Given the description of an element on the screen output the (x, y) to click on. 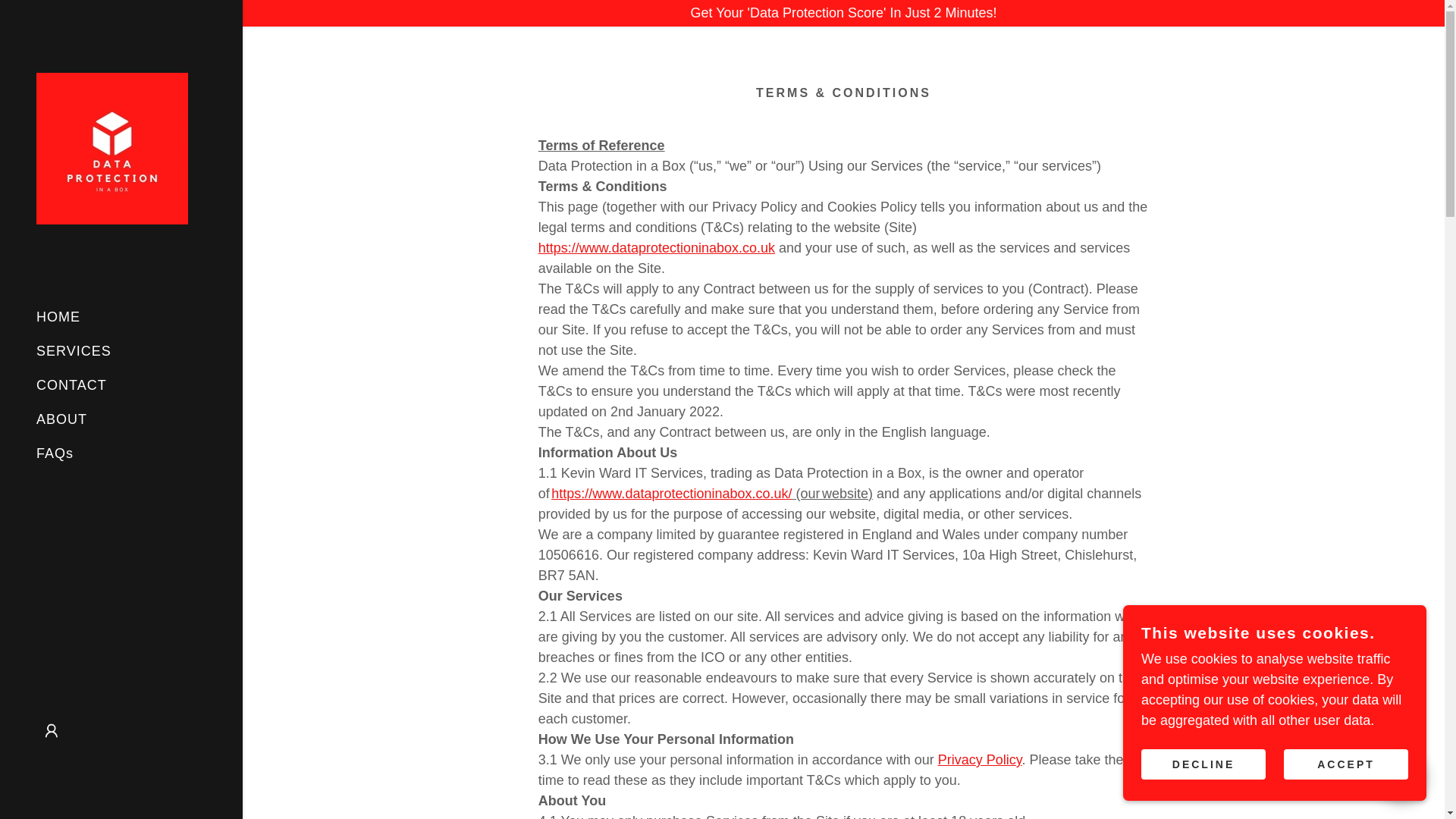
ABOUT (61, 418)
DECLINE (1203, 764)
ACCEPT (1345, 764)
Privacy Policy (979, 759)
SERVICES (74, 350)
CONTACT (71, 385)
FAQs (55, 453)
HOME (58, 316)
